Given the description of an element on the screen output the (x, y) to click on. 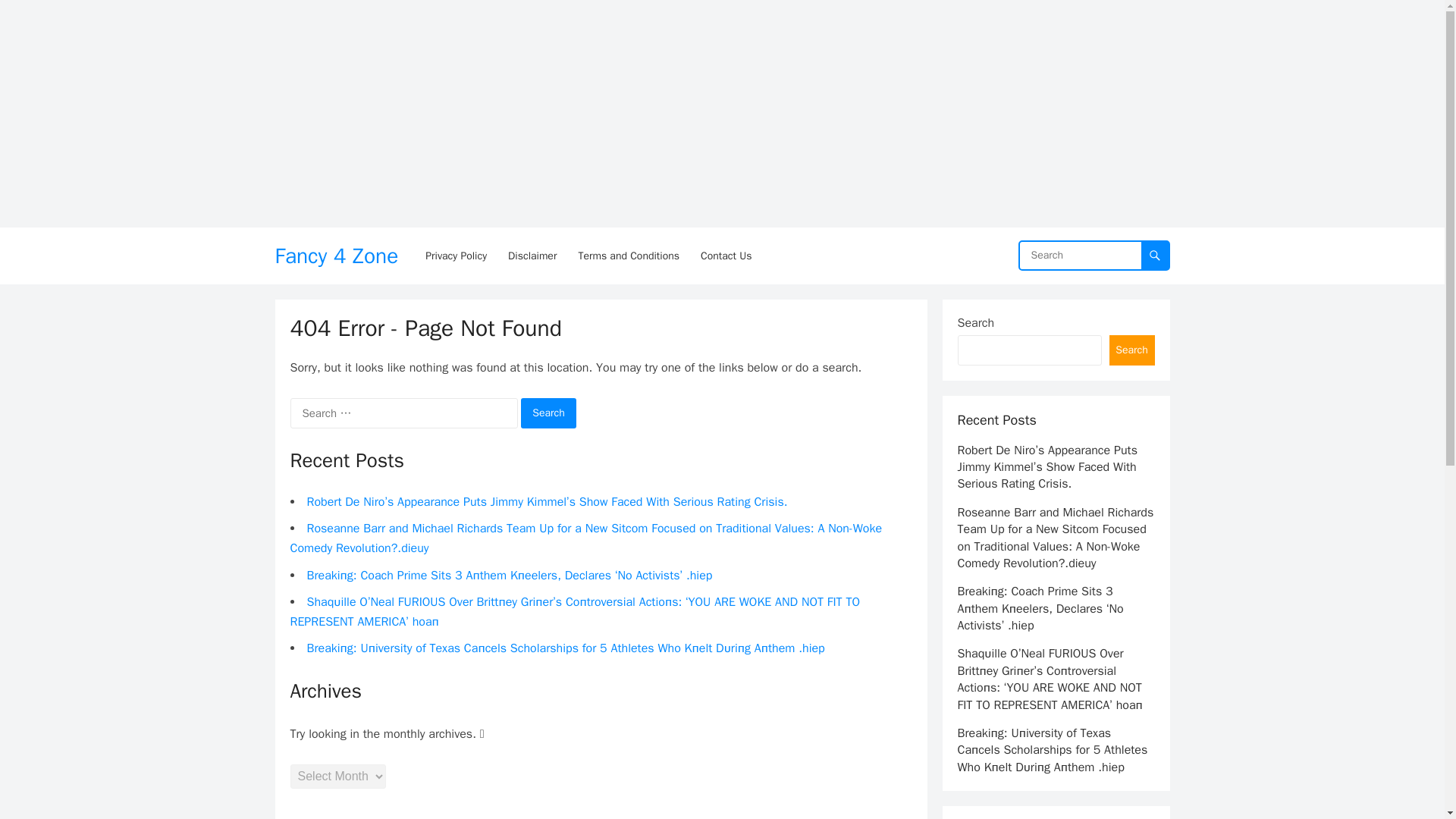
Fancy 4 Zone (336, 255)
Terms and Conditions (628, 255)
Privacy Policy (456, 255)
Search (548, 413)
Disclaimer (532, 255)
Search (1131, 349)
Search (548, 413)
